Given the description of an element on the screen output the (x, y) to click on. 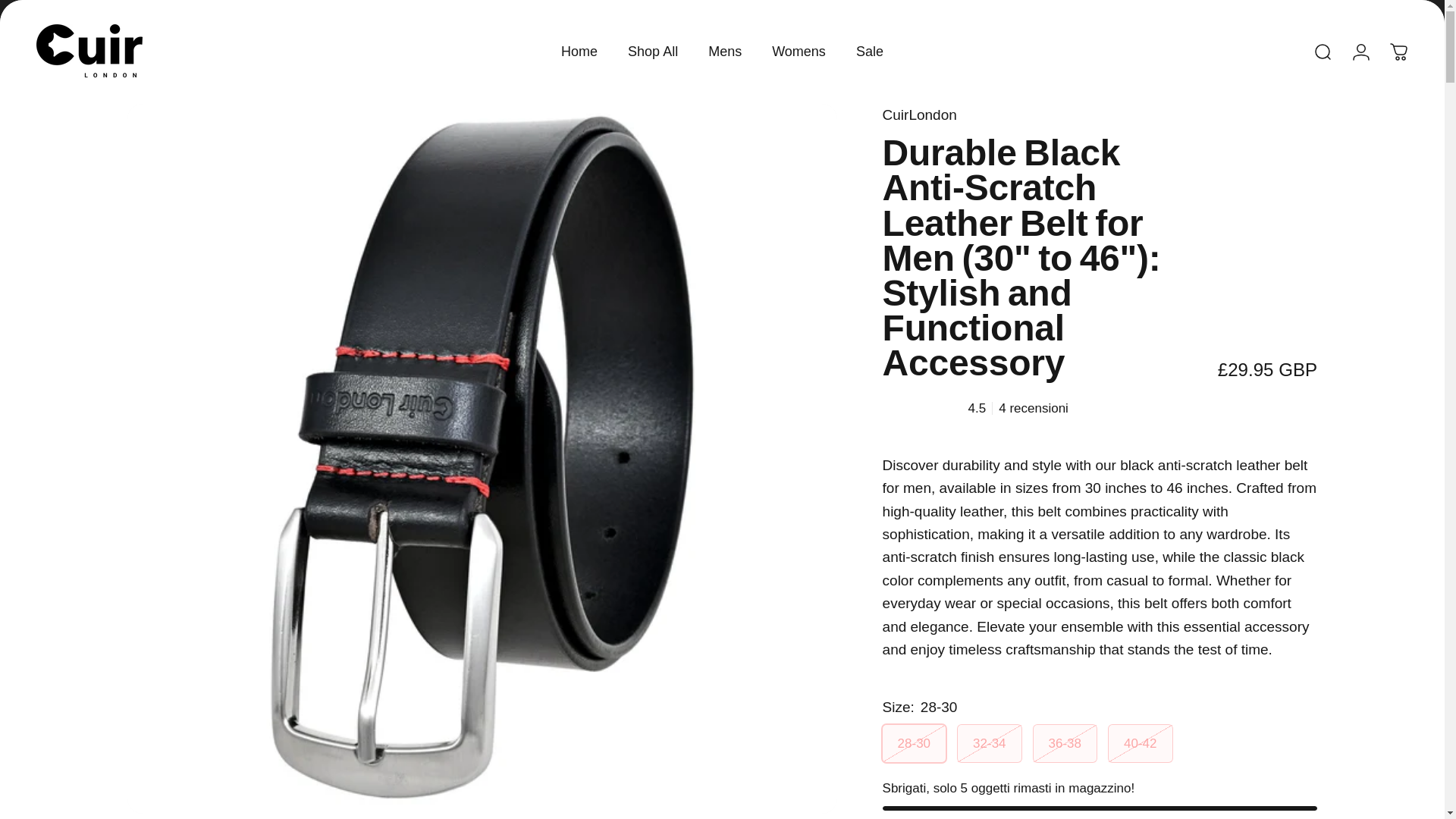
CuirLondon su Facebook (43, 7)
Italiano (1364, 7)
CuirLondon (89, 51)
36-38 (1064, 743)
Pinterest (143, 7)
Shop All (652, 51)
TikTok (110, 7)
Home (579, 51)
32-34 (989, 743)
CuirLondon su TikTok (110, 7)
28-30 (913, 743)
